Given the description of an element on the screen output the (x, y) to click on. 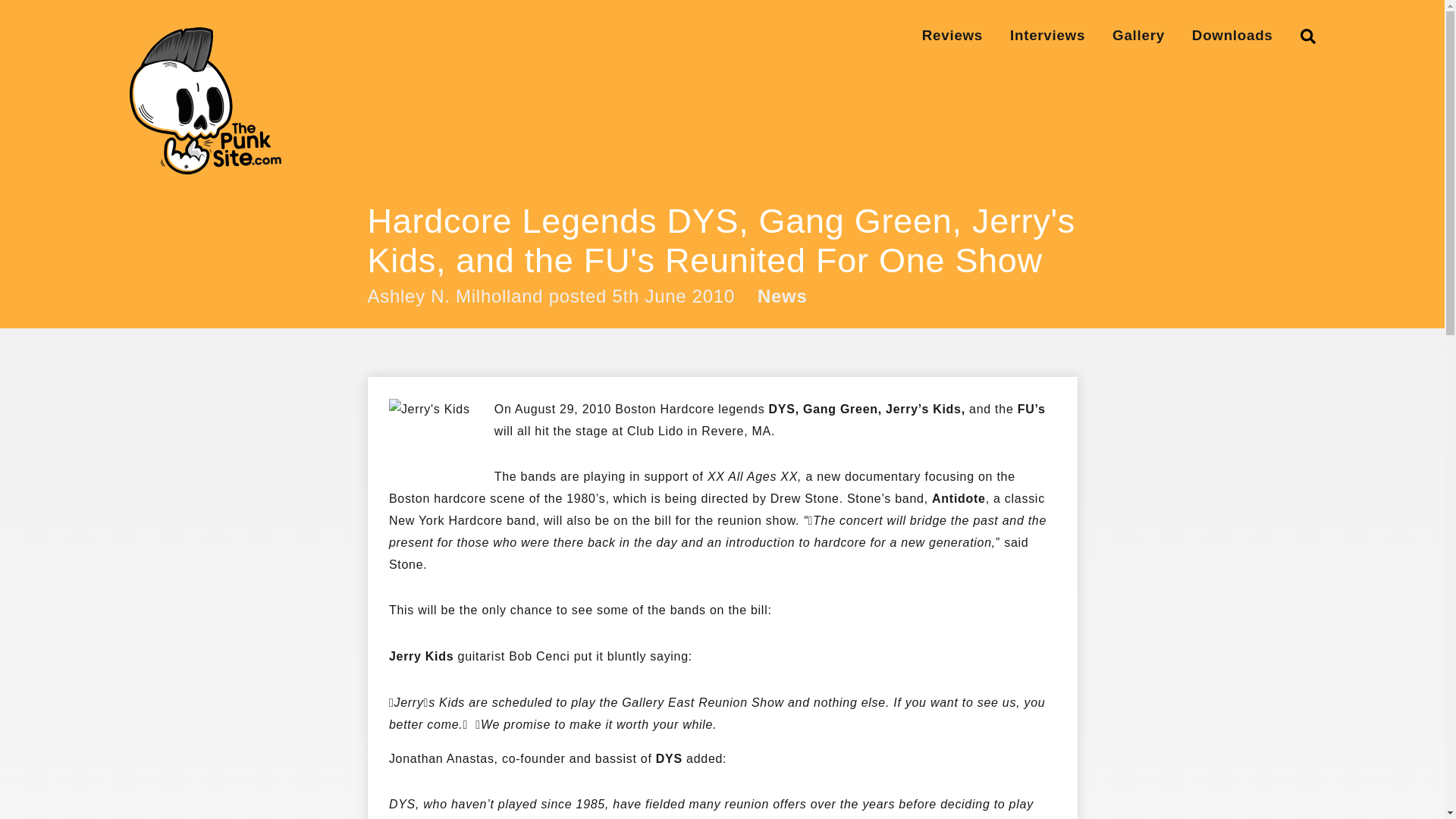
Reviews (951, 35)
ThePunkSite.com home (205, 100)
Interviews (1047, 35)
Gallery (1138, 35)
Jerry's Kids (429, 426)
News (782, 296)
Downloads (1232, 35)
